Given the description of an element on the screen output the (x, y) to click on. 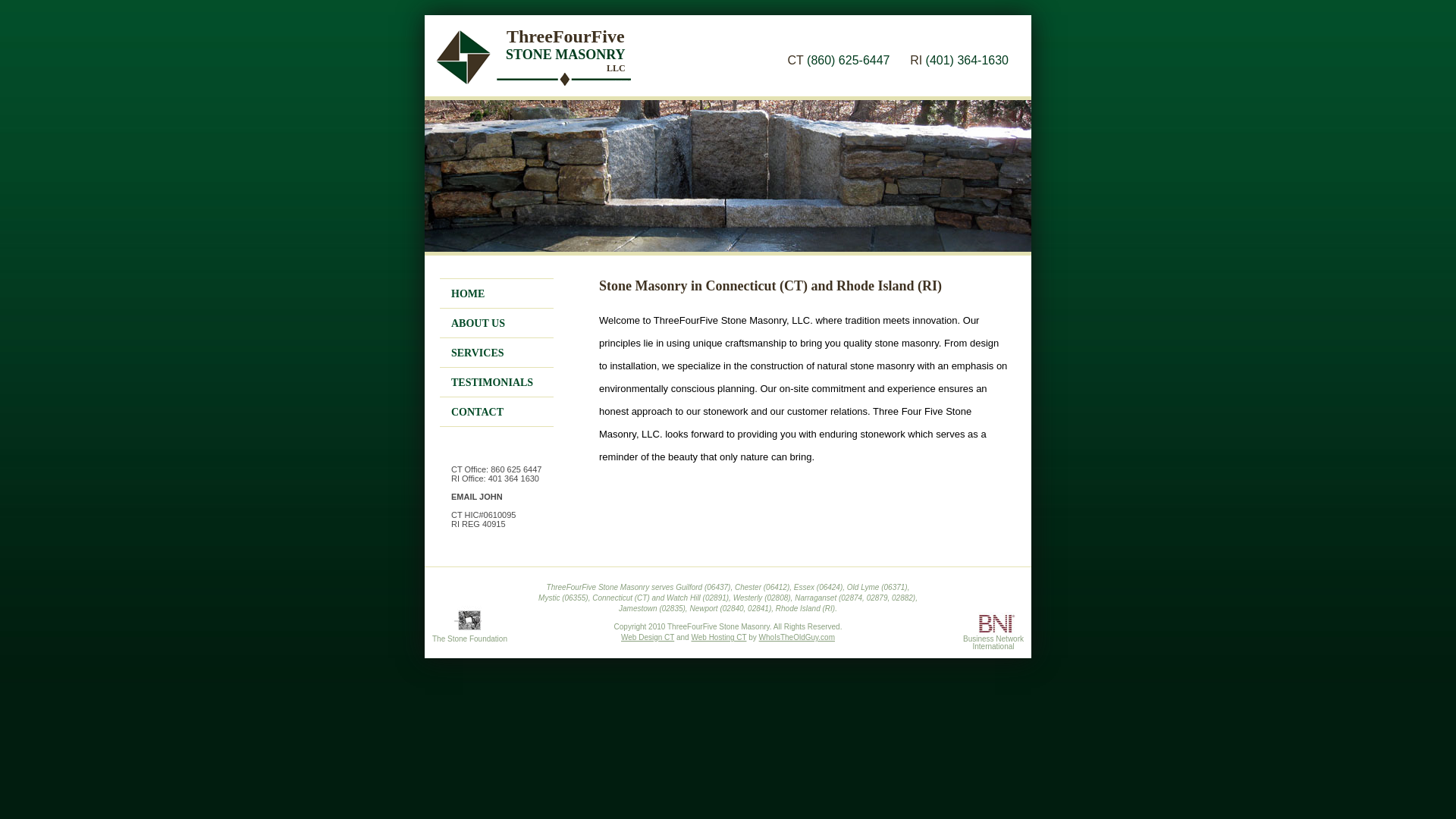
SERVICES Element type: text (479, 352)
TESTIMONIALS Element type: text (493, 382)
ABOUT US Element type: text (479, 323)
HOME Element type: text (469, 293)
CONTACT Element type: text (478, 411)
Web Hosting CT Element type: text (718, 637)
Web Design CT Element type: text (647, 637)
WhoIsTheOldGuy.com Element type: text (796, 637)
EMAIL JOHN Element type: text (476, 496)
